Given the description of an element on the screen output the (x, y) to click on. 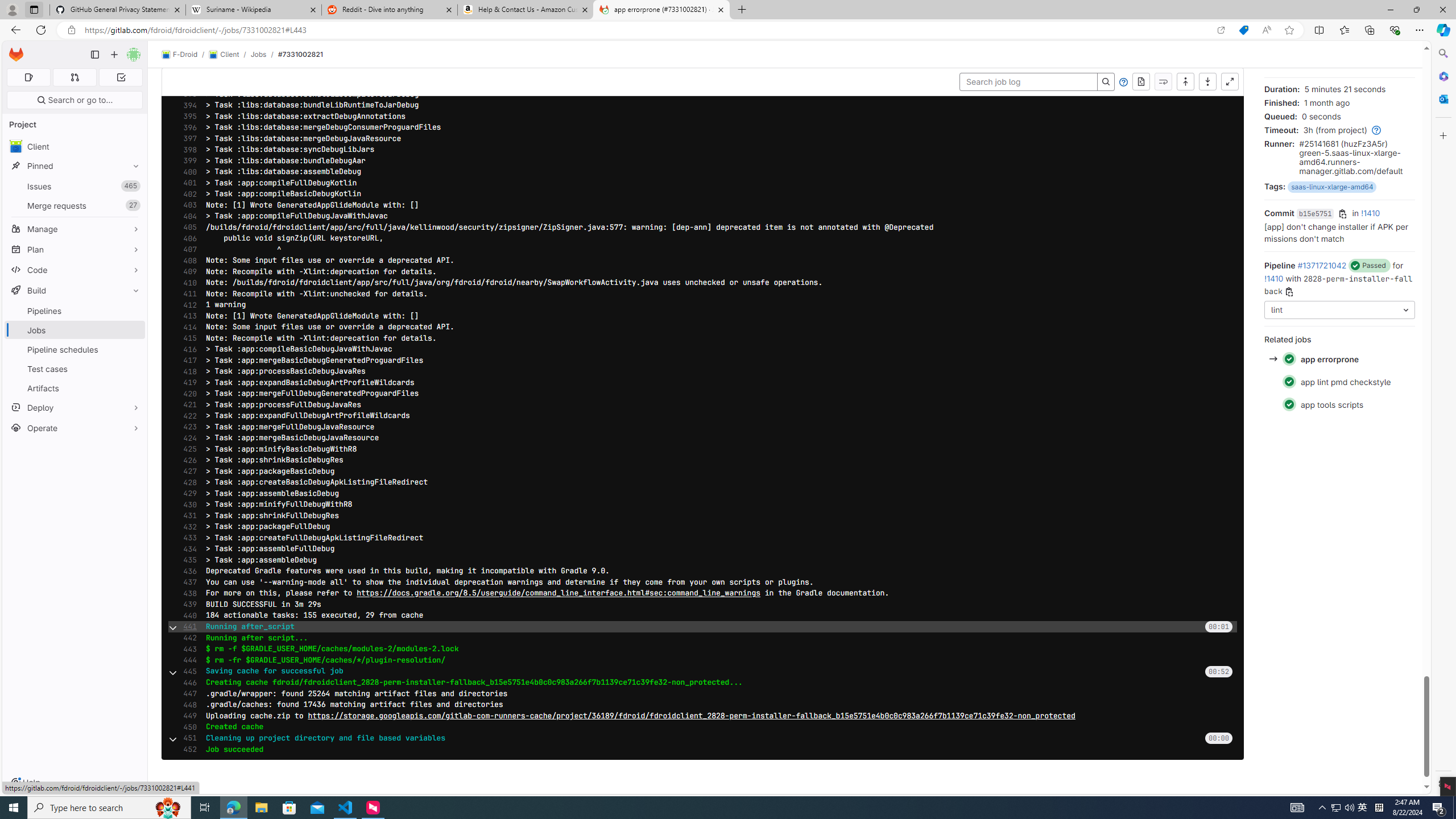
395 (186, 116)
411 (186, 293)
394 (186, 105)
418 (186, 371)
Pin Test cases (132, 368)
431 (186, 515)
400 (186, 171)
F-Droid/ (185, 54)
